Given the description of an element on the screen output the (x, y) to click on. 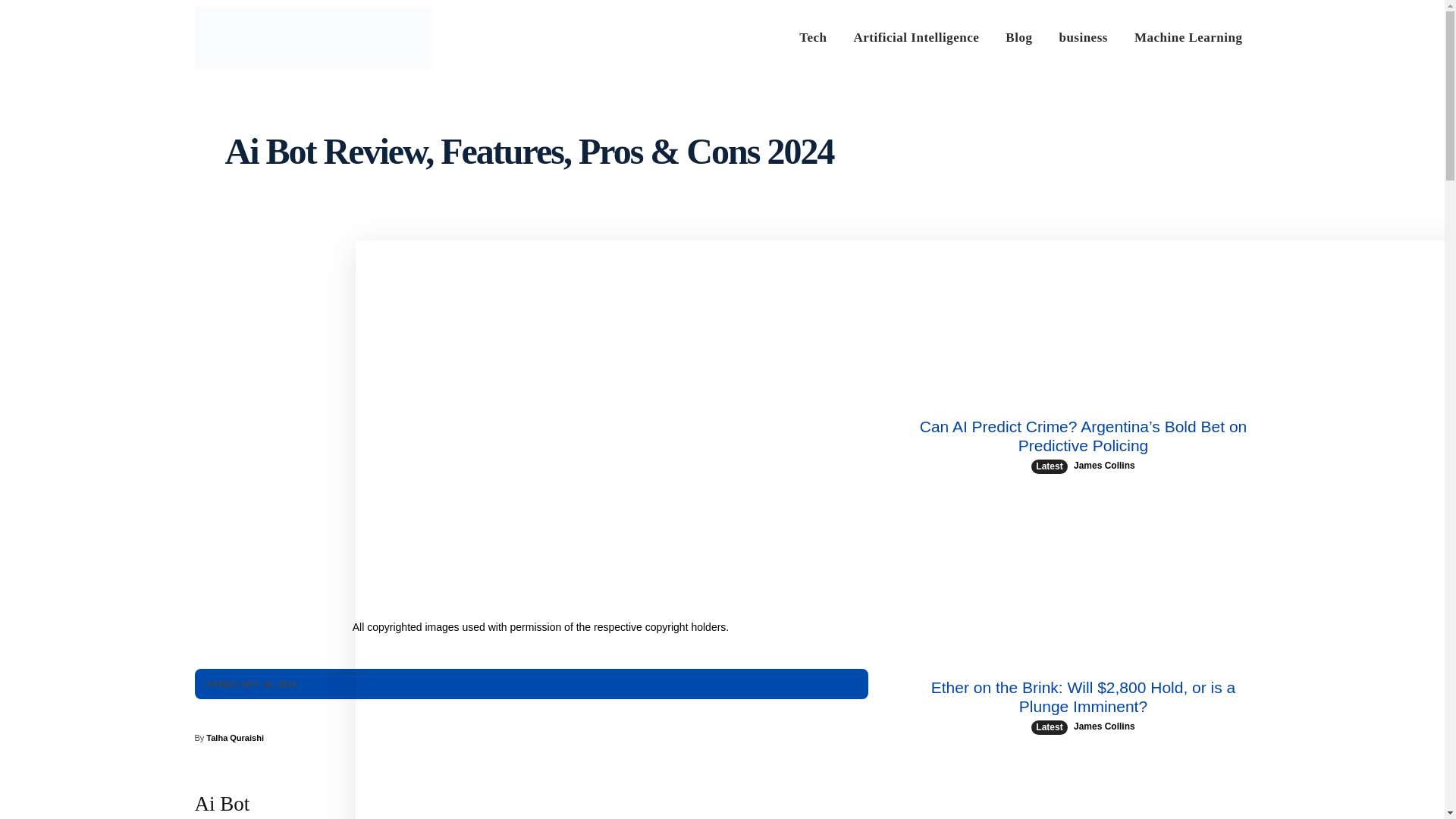
Latest (1048, 727)
James Collins (1104, 465)
Machine Learning (1188, 38)
hataftech (311, 37)
Artificial Intelligence (916, 38)
Latest (1048, 466)
James Collins (1104, 726)
Talha Quraishi (234, 737)
